Given the description of an element on the screen output the (x, y) to click on. 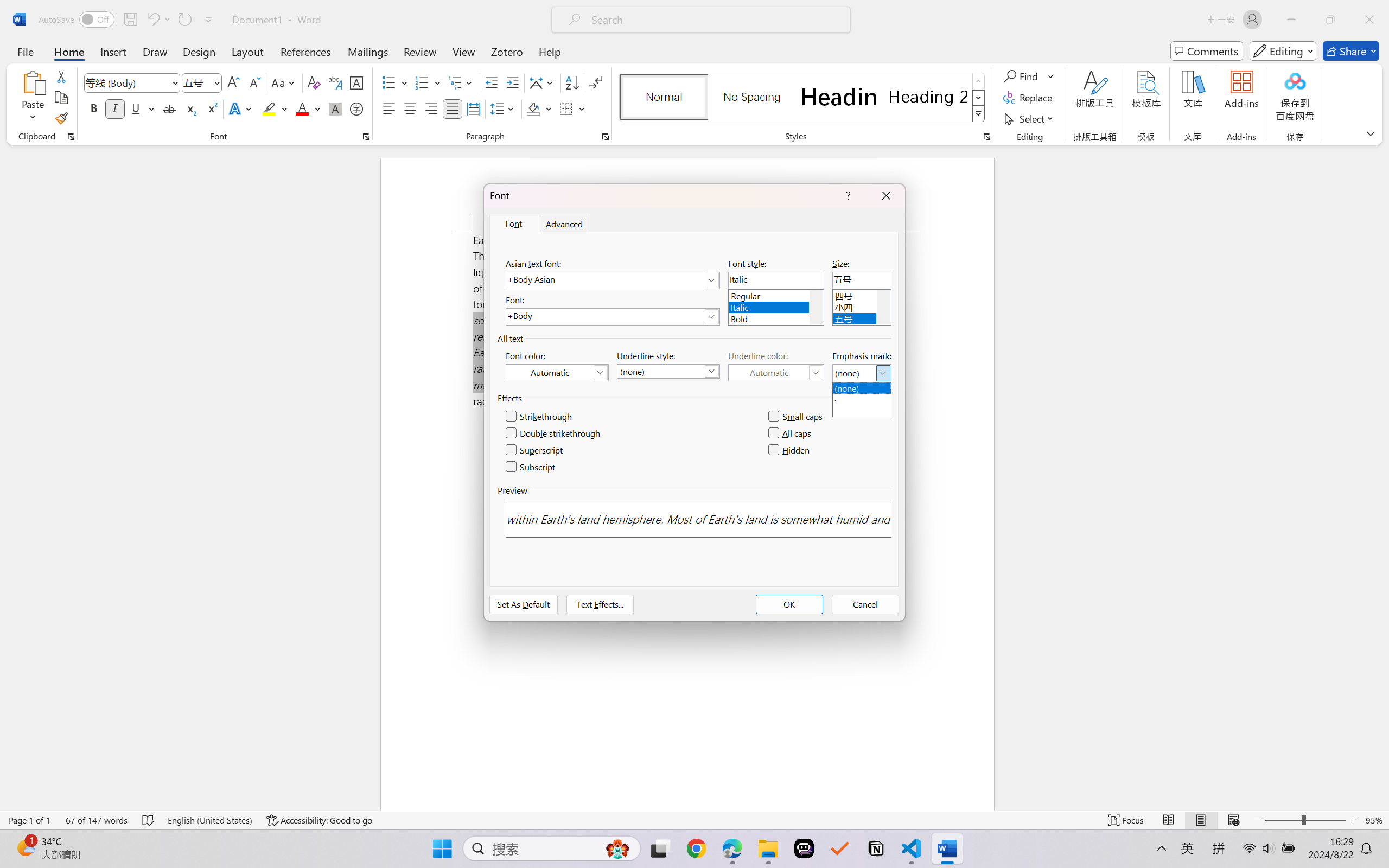
Text Highlight Color Yellow (269, 108)
Strikethrough (539, 416)
Asian Layout (542, 82)
Replace... (1029, 97)
Center (409, 108)
Shading (539, 108)
Notion (875, 848)
Underline style: (667, 370)
AutomationID: 1795 (815, 306)
